Given the description of an element on the screen output the (x, y) to click on. 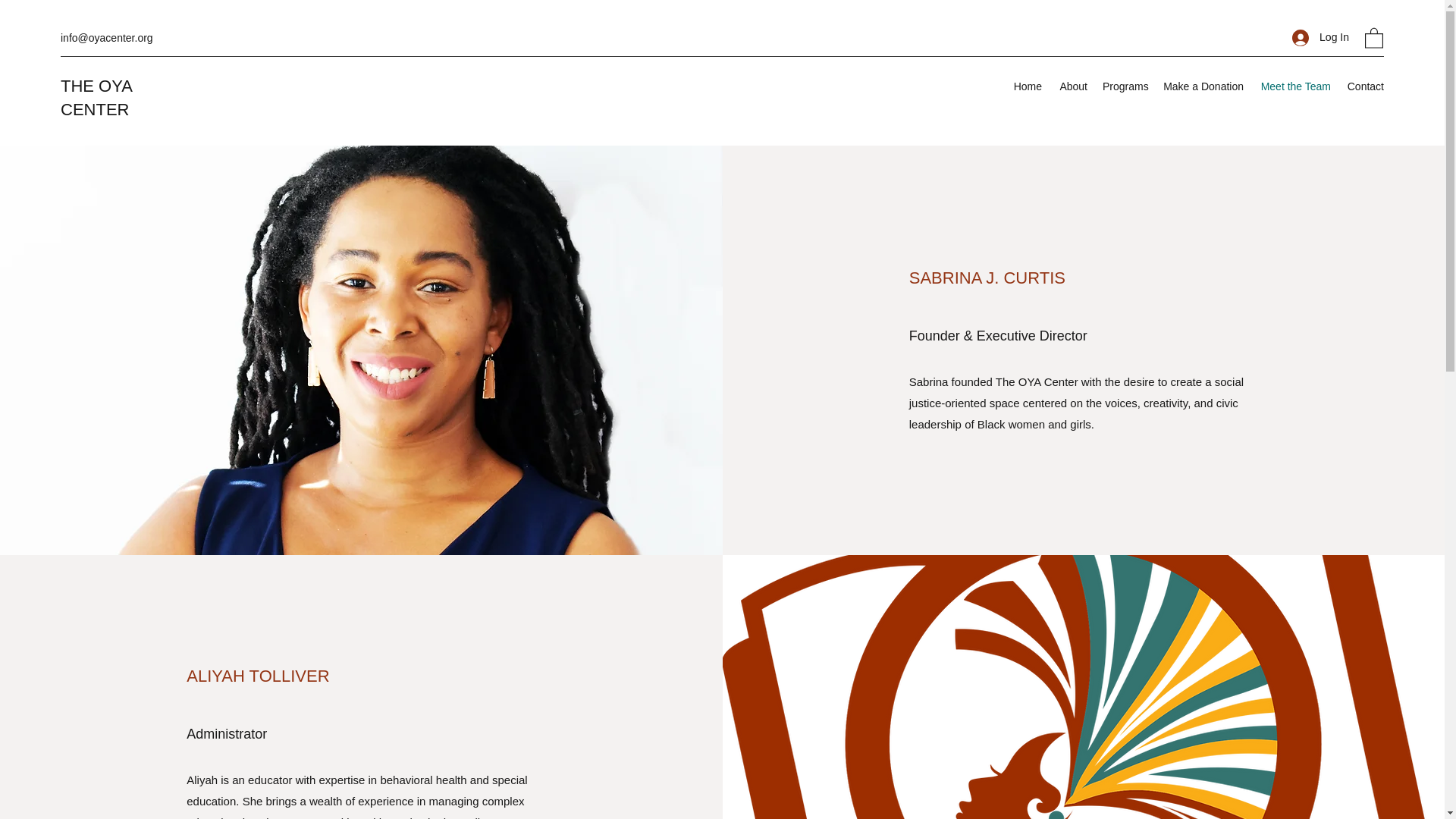
Programs (1125, 86)
Home (1027, 86)
THE OYA CENTER (96, 97)
Make a Donation (1203, 86)
Meet the Team (1294, 86)
Log In (1320, 37)
About (1071, 86)
Contact (1364, 86)
